Given the description of an element on the screen output the (x, y) to click on. 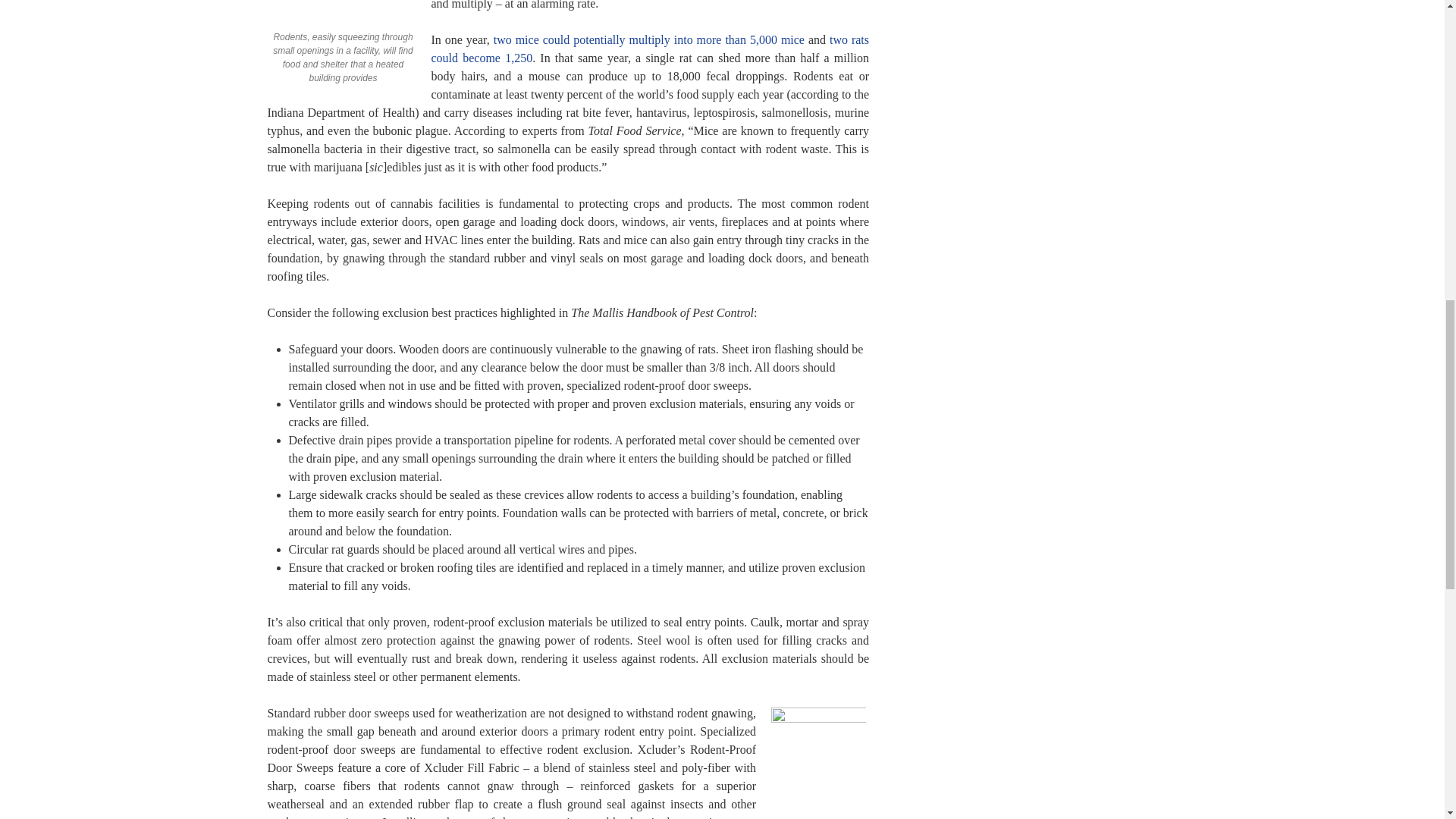
two rats could become 1,250 (649, 48)
